Given the description of an element on the screen output the (x, y) to click on. 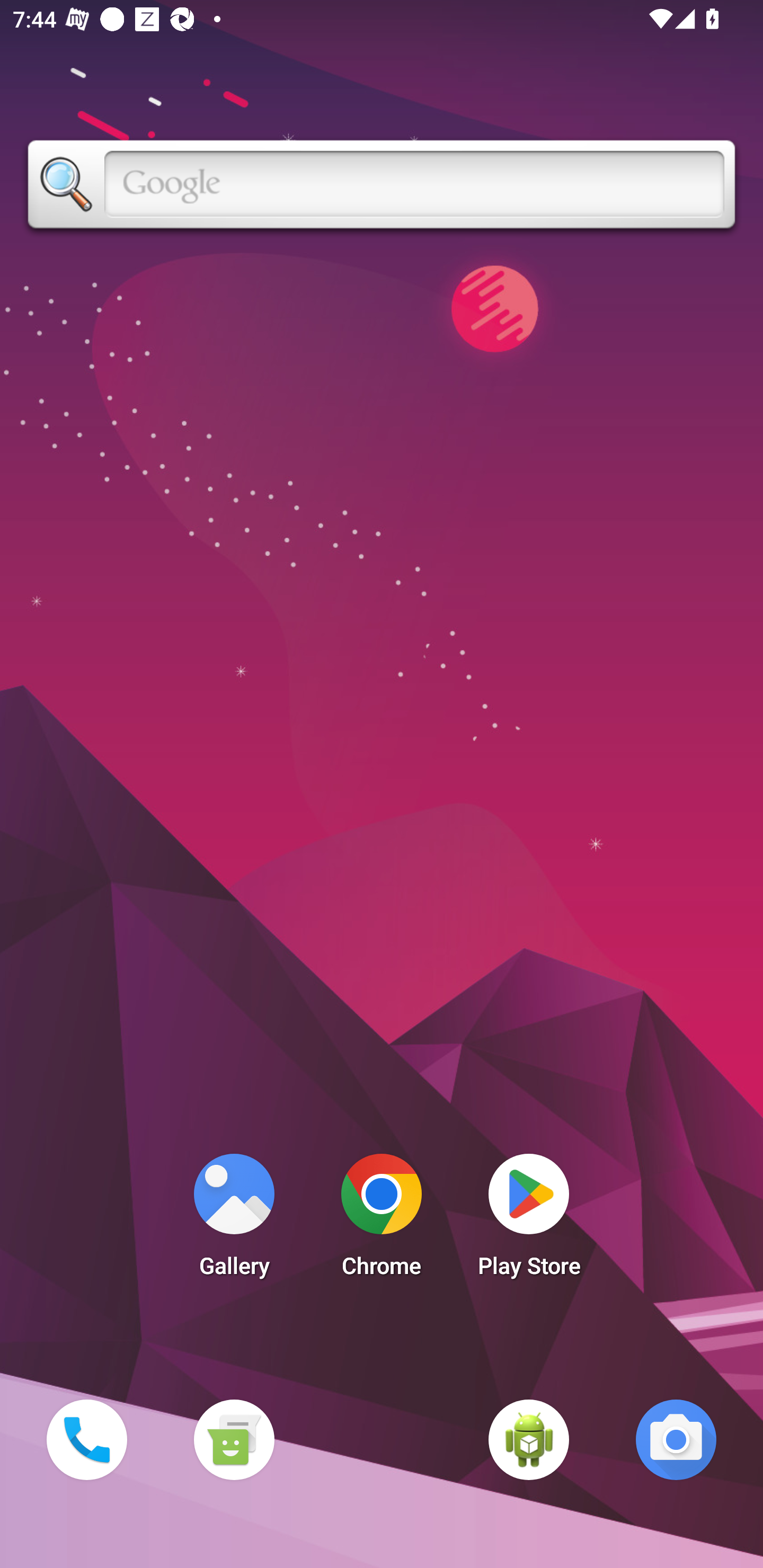
Gallery (233, 1220)
Chrome (381, 1220)
Play Store (528, 1220)
Phone (86, 1439)
Messaging (233, 1439)
WebView Browser Tester (528, 1439)
Camera (676, 1439)
